Given the description of an element on the screen output the (x, y) to click on. 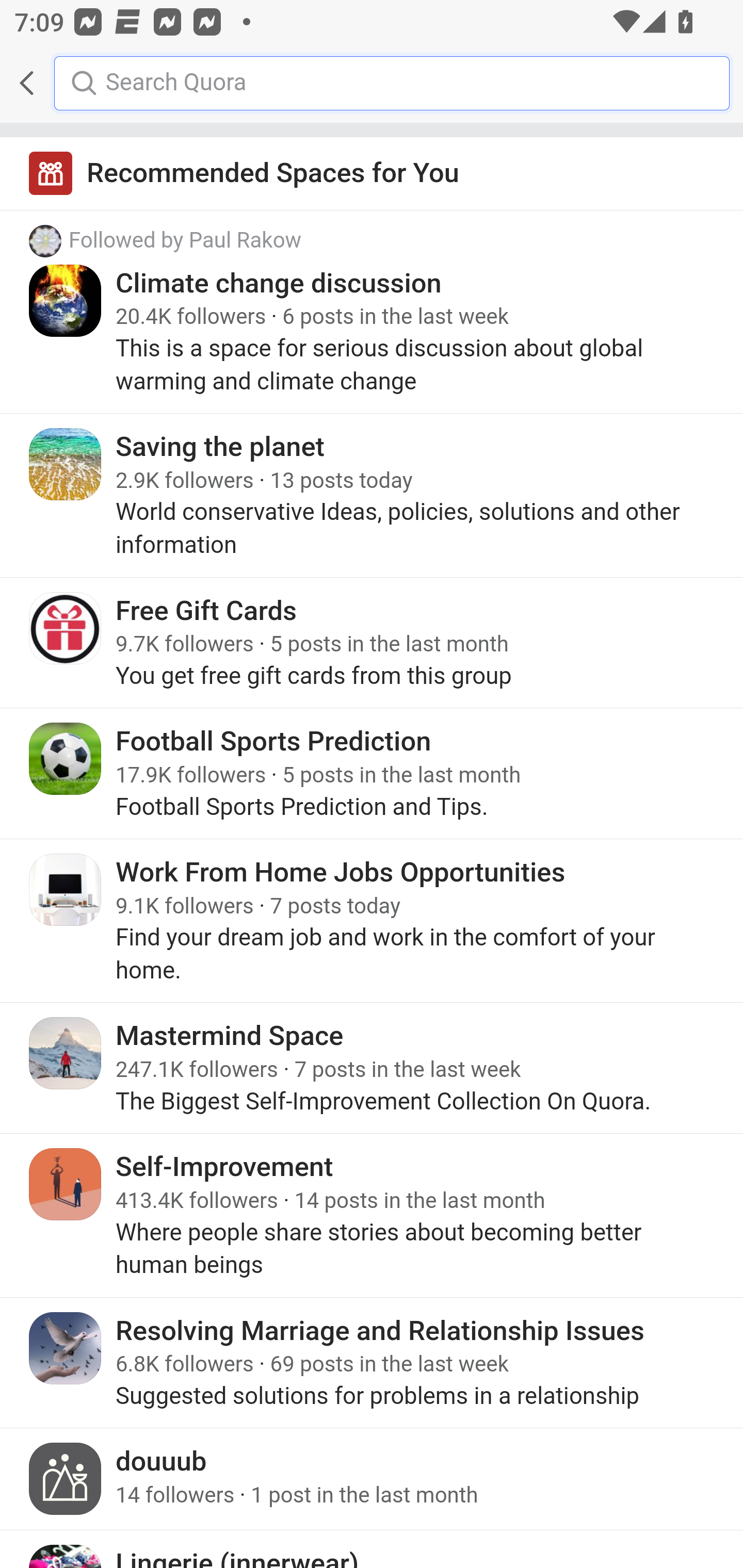
Me Home Search Add (371, 82)
Icon for Climate change discussion (65, 300)
Icon for Saving the planet (65, 464)
Icon for Free Gift Cards (65, 627)
Icon for Football Sports Prediction (65, 759)
Icon for Work From Home Jobs Opportunities (65, 889)
Icon for Mastermind Space (65, 1052)
Icon for Self-Improvement (65, 1184)
Icon for douuub (65, 1479)
